Given the description of an element on the screen output the (x, y) to click on. 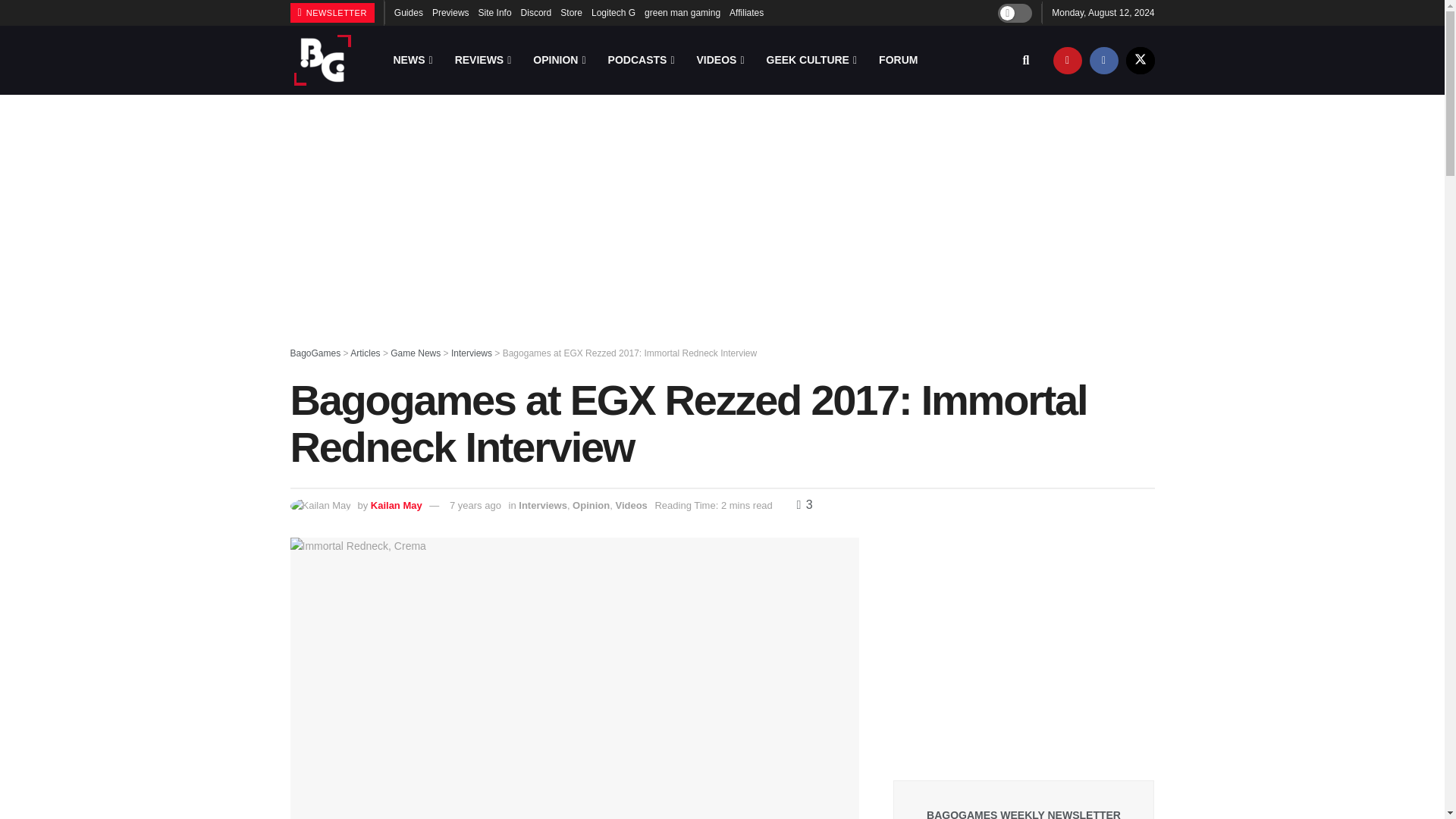
Discord (536, 12)
Logitech G (612, 12)
Guides (408, 12)
Go to the Interviews Category archives. (471, 353)
Previews (450, 12)
Site Info (495, 12)
Go to the Game News Category archives. (415, 353)
Affiliates (745, 12)
NEWSLETTER (331, 12)
